Given the description of an element on the screen output the (x, y) to click on. 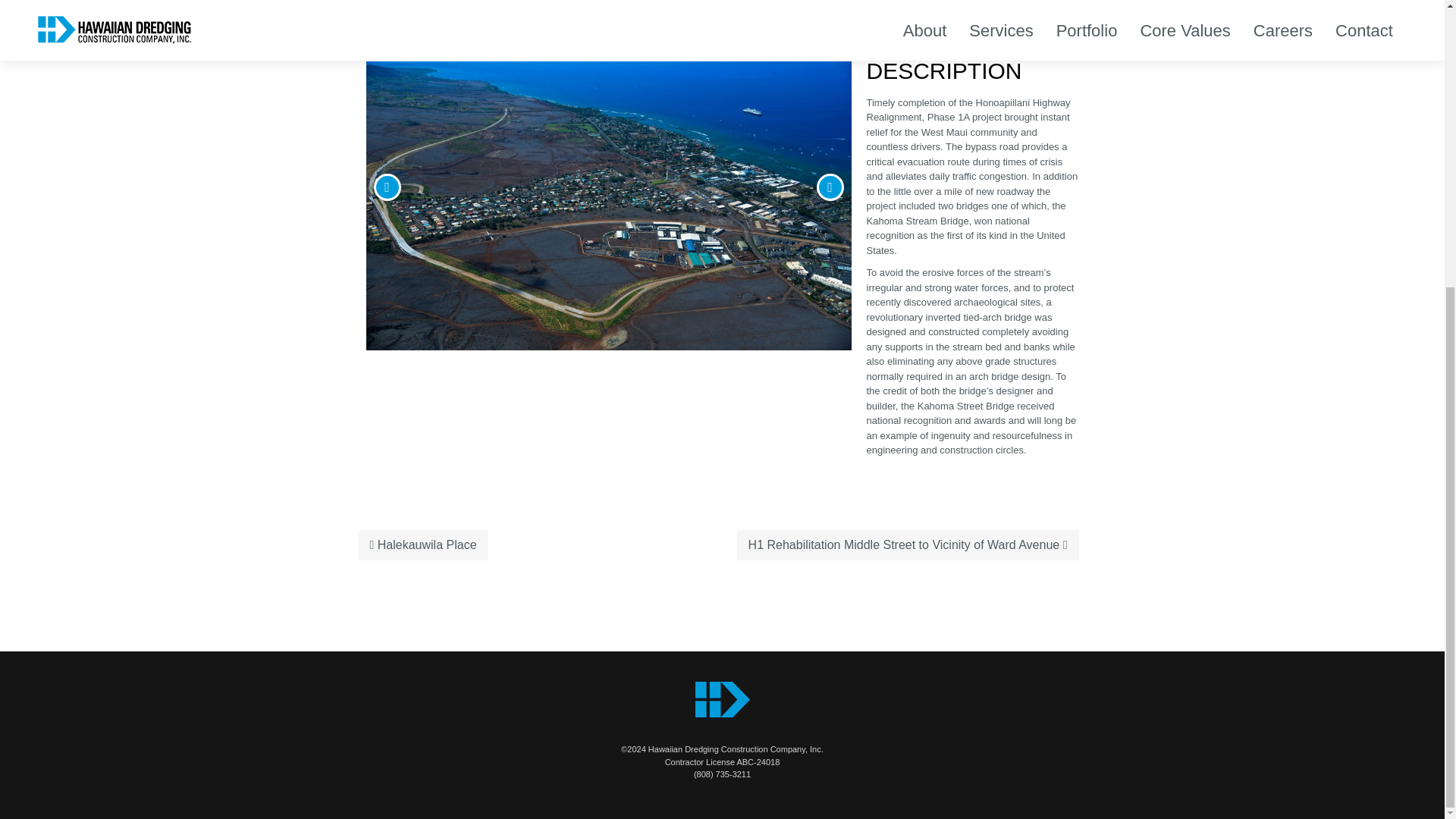
Halekauwila Place (422, 544)
H1 Rehabilitation Middle Street to Vicinity of Ward Avenue (907, 544)
